Given the description of an element on the screen output the (x, y) to click on. 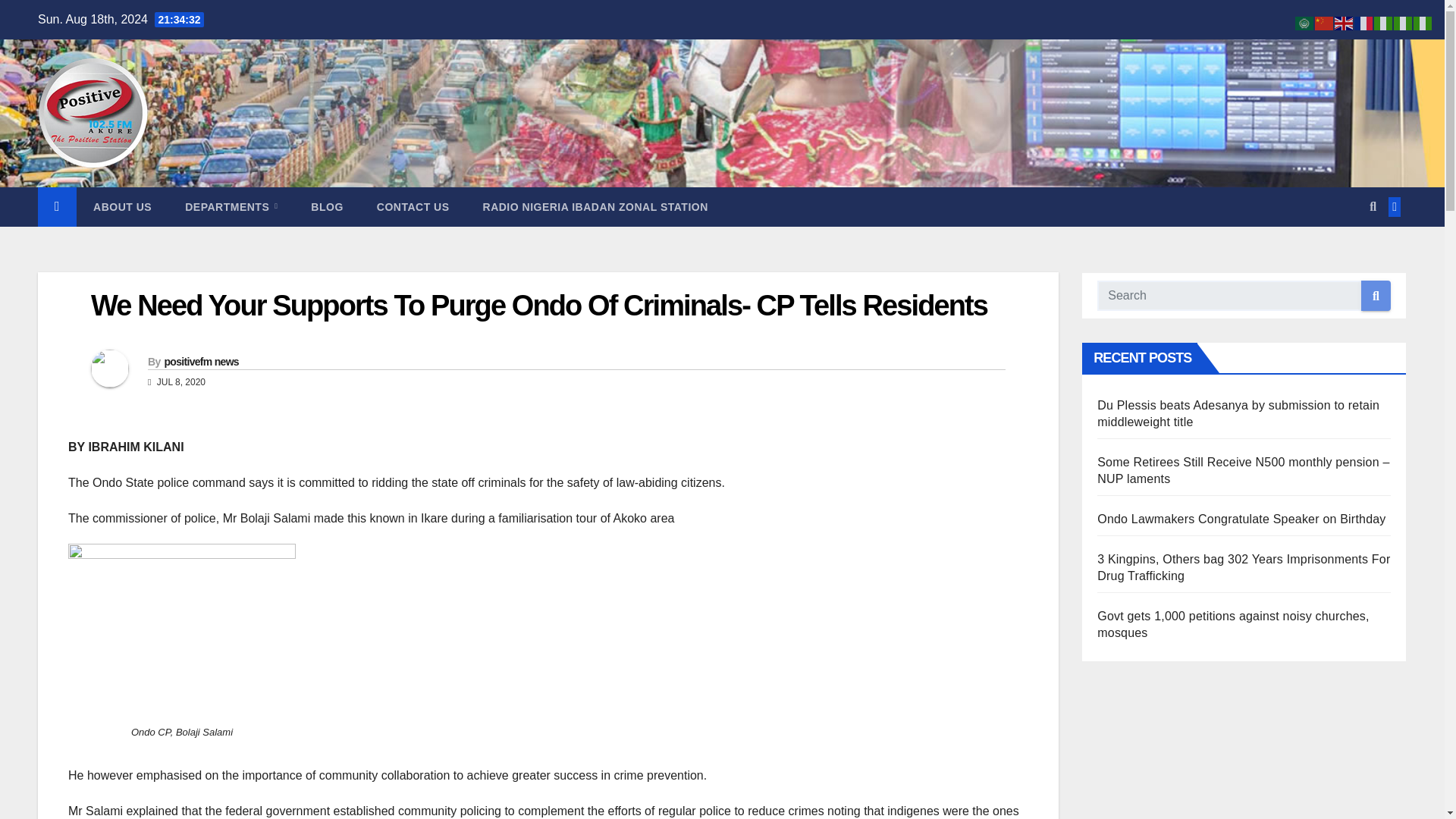
Radio Nigeria Ibadan Zonal Station (595, 206)
BLOG (326, 206)
Blog (326, 206)
Contact us (412, 206)
RADIO NIGERIA IBADAN ZONAL STATION (595, 206)
About us (122, 206)
CONTACT US (412, 206)
Departments (231, 206)
positivefm news (200, 361)
